Given the description of an element on the screen output the (x, y) to click on. 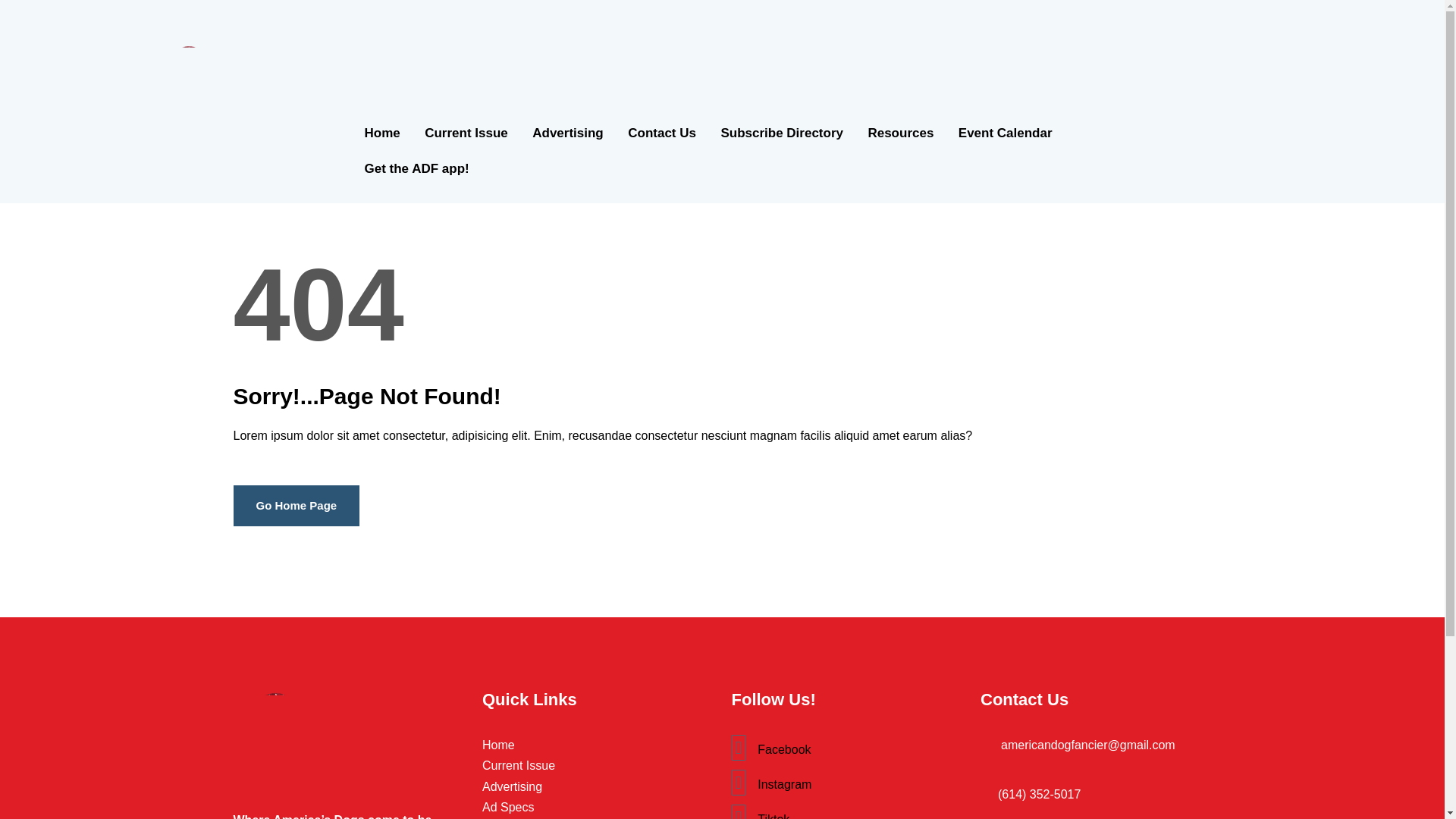
Contact Us (661, 132)
Resources (900, 132)
Home (597, 744)
Go Home Page (295, 506)
Advertising (597, 786)
Instagram (846, 782)
Subscribe Directory (781, 132)
Current Issue (466, 132)
Facebook (846, 747)
